Given the description of an element on the screen output the (x, y) to click on. 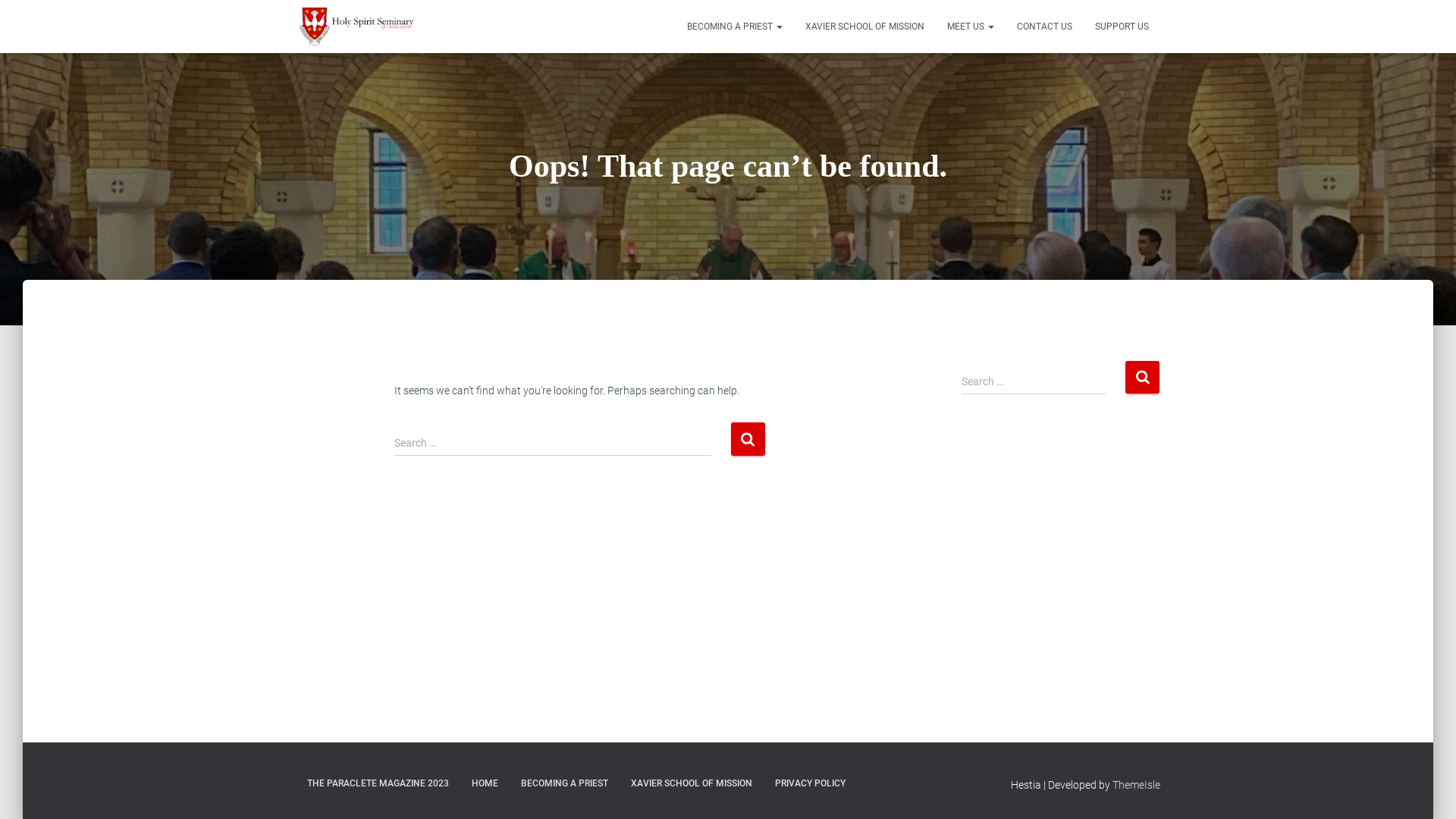
THE PARACLETE MAGAZINE 2023 Element type: text (377, 783)
ThemeIsle Element type: text (1136, 784)
BECOMING A PRIEST Element type: text (564, 783)
XAVIER SCHOOL OF MISSION Element type: text (691, 783)
SUPPORT US Element type: text (1121, 26)
Holy Spirit Seminary Element type: hover (356, 26)
CONTACT US Element type: text (1044, 26)
HOME Element type: text (484, 783)
XAVIER SCHOOL OF MISSION Element type: text (864, 26)
BECOMING A PRIEST Element type: text (734, 26)
Search Element type: text (748, 438)
PRIVACY POLICY Element type: text (809, 783)
MEET US Element type: text (970, 26)
Search Element type: text (1142, 376)
